Given the description of an element on the screen output the (x, y) to click on. 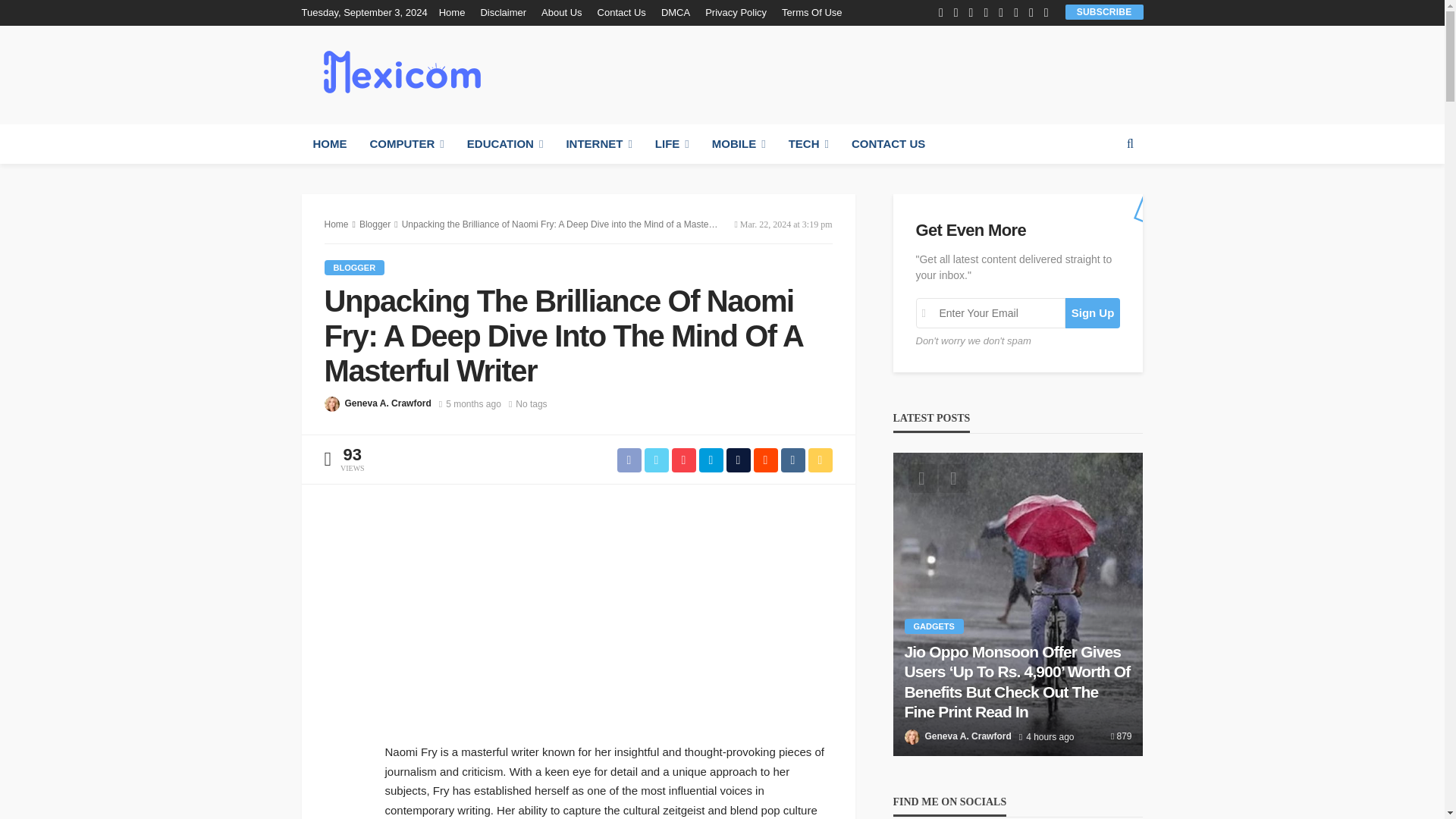
DMCA (675, 12)
SUBSCRIBE (1103, 11)
Home (456, 12)
Terms Of Use (811, 12)
subscribe (1103, 11)
Contact Us (621, 12)
Sign up (1093, 313)
HOME (329, 143)
COMPUTER (406, 143)
Privacy Policy (735, 12)
